Given the description of an element on the screen output the (x, y) to click on. 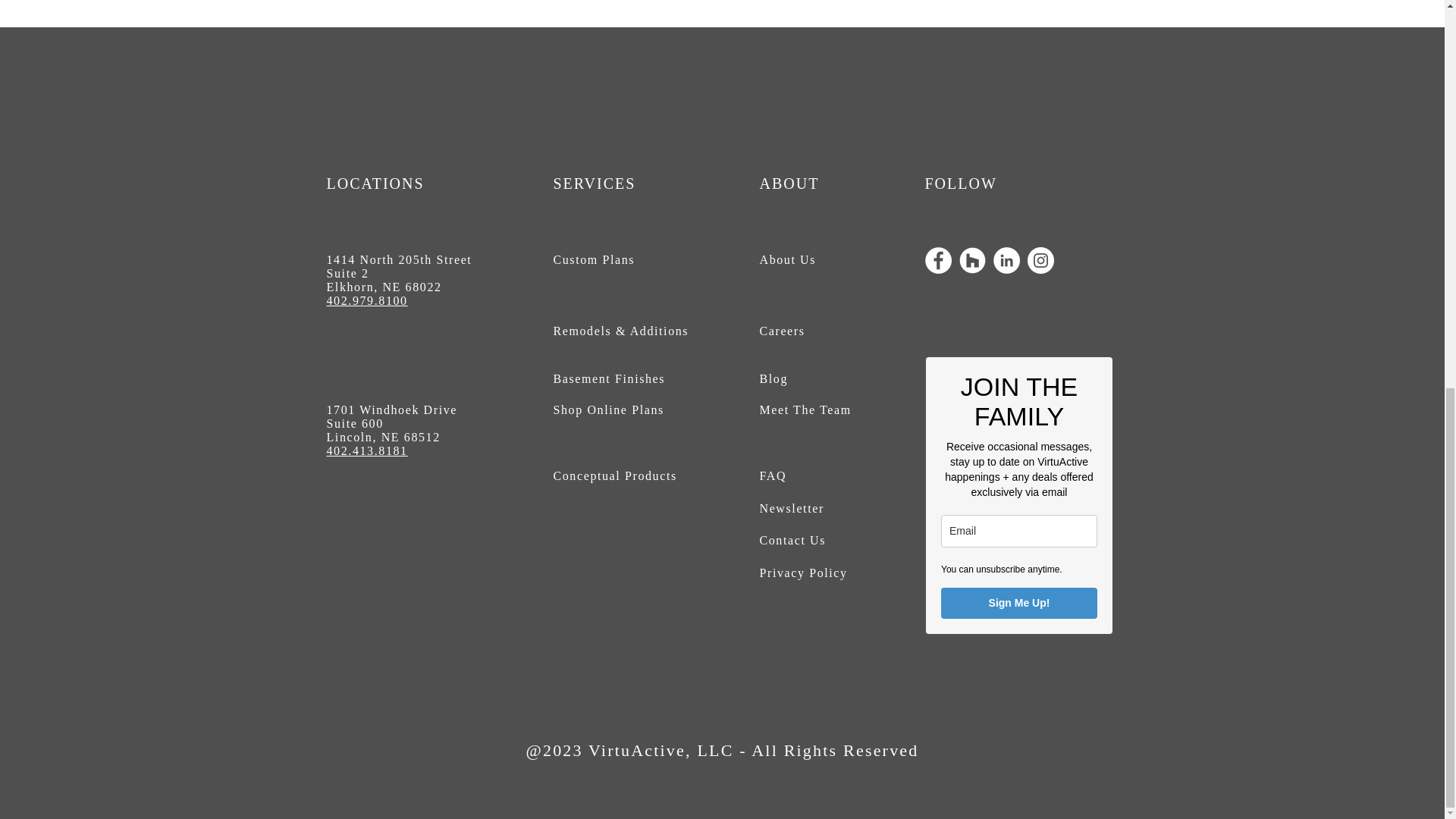
Conceptual Products (615, 475)
Careers (782, 330)
Custom Plans (593, 259)
Basement Finishes (609, 378)
402.413.8181 (366, 450)
Shop Online Plans (608, 409)
Blog (774, 378)
402.979.8100 (366, 300)
About Us (788, 259)
